Given the description of an element on the screen output the (x, y) to click on. 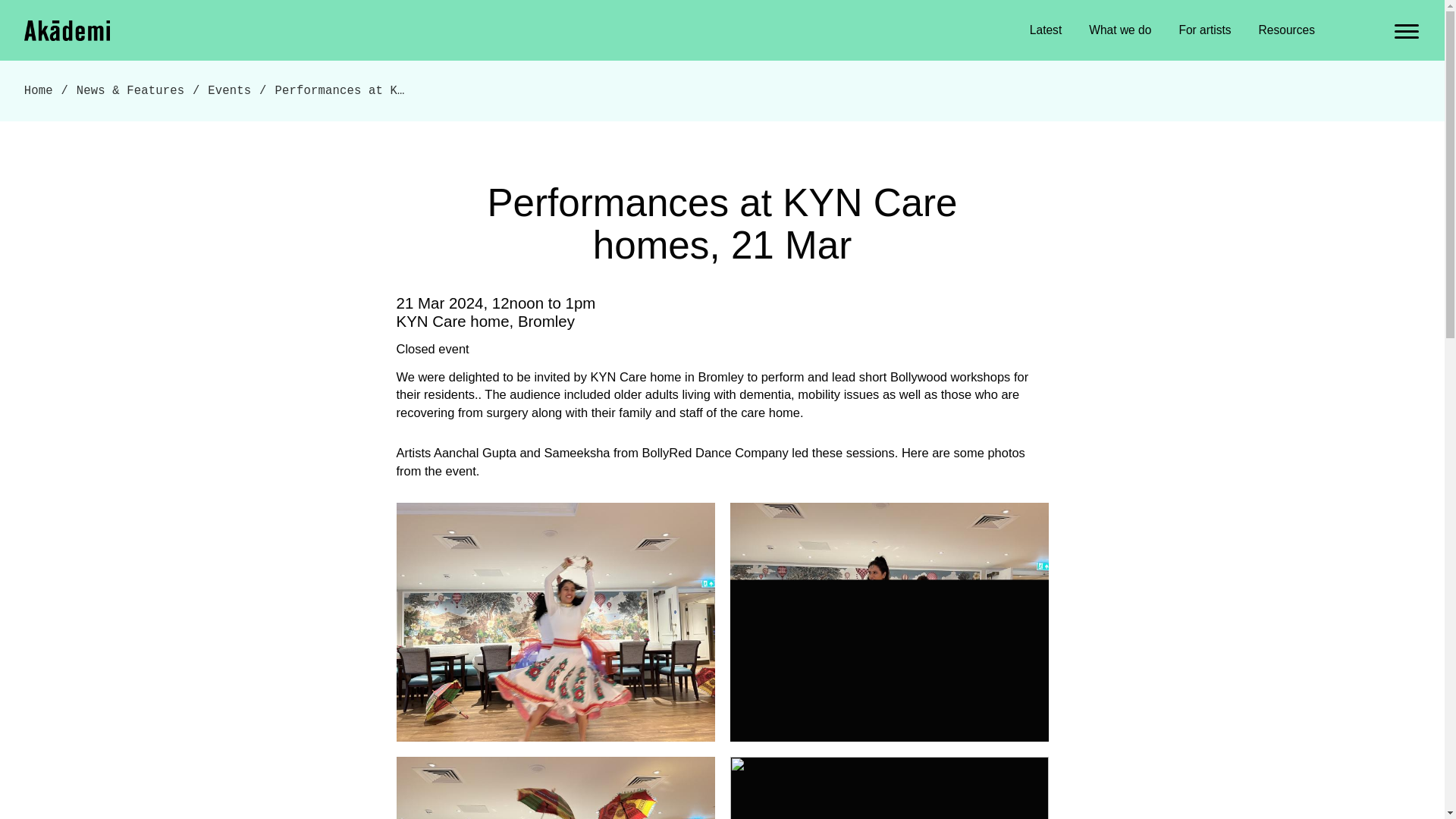
Akademi (68, 29)
Go (53, 8)
Latest (1045, 30)
What we do (1119, 30)
Resources (1285, 30)
For artists (1204, 30)
